Given the description of an element on the screen output the (x, y) to click on. 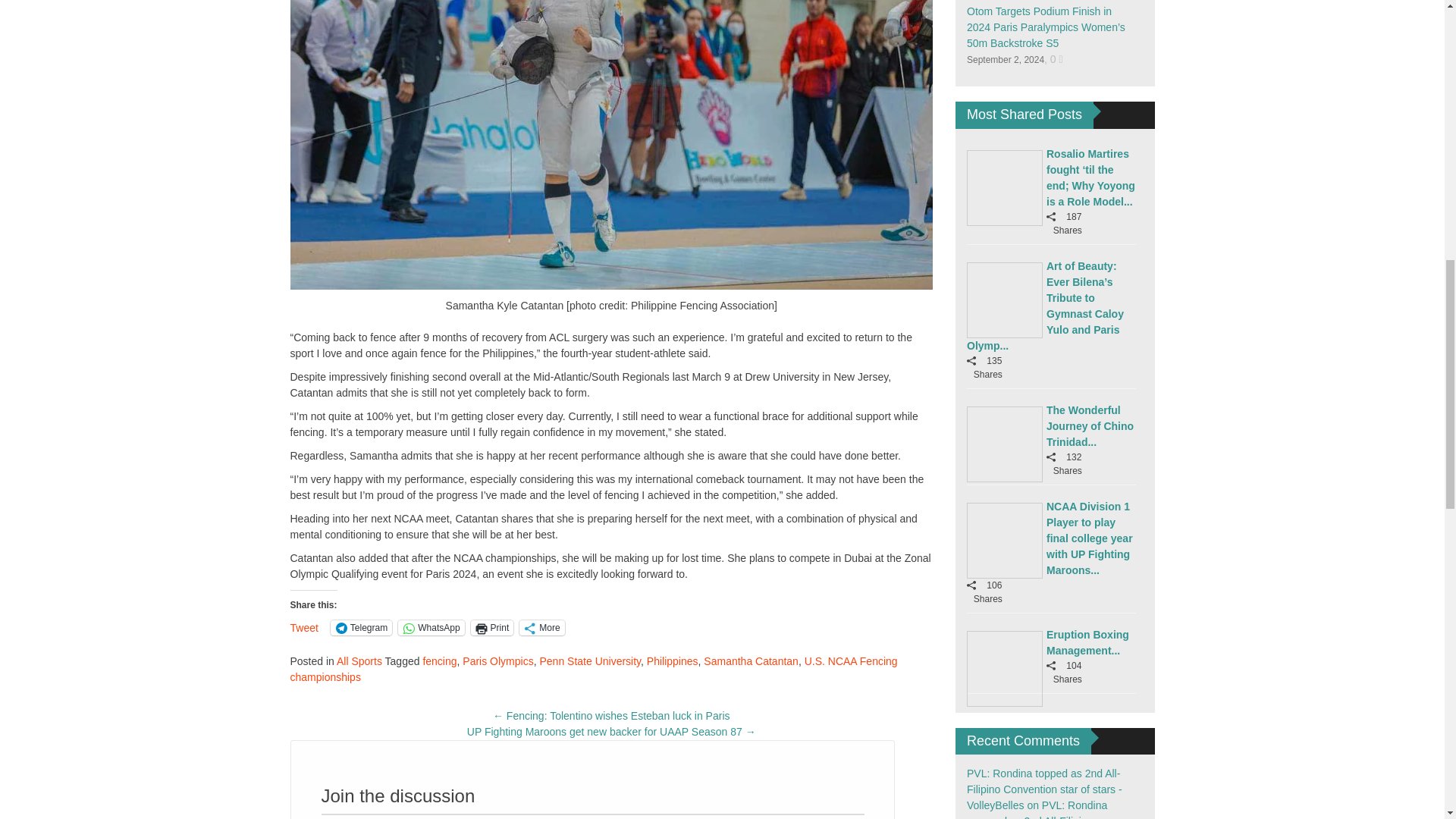
Click to print (491, 627)
Click to share on Telegram (360, 627)
Click to share on WhatsApp (430, 627)
